Given the description of an element on the screen output the (x, y) to click on. 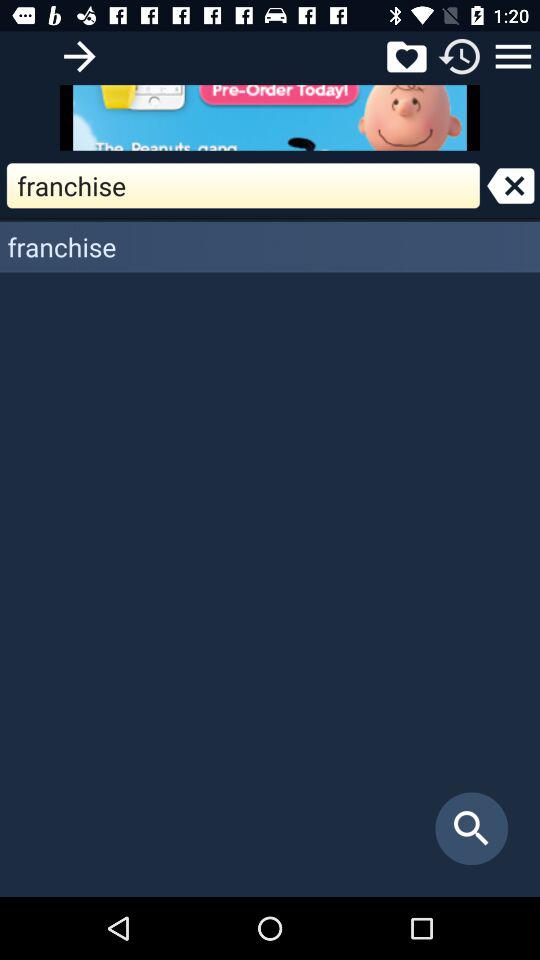
open advertisement (270, 117)
